Given the description of an element on the screen output the (x, y) to click on. 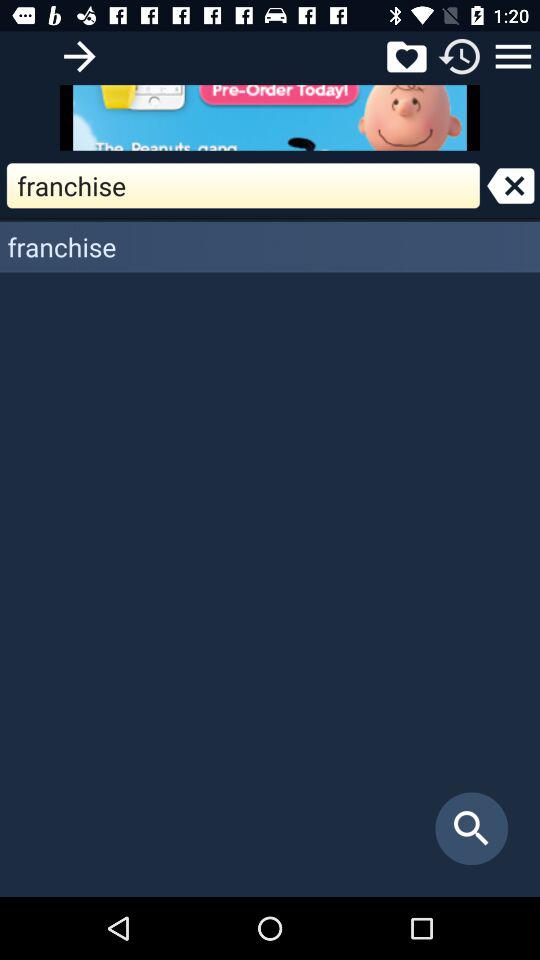
open advertisement (270, 117)
